Given the description of an element on the screen output the (x, y) to click on. 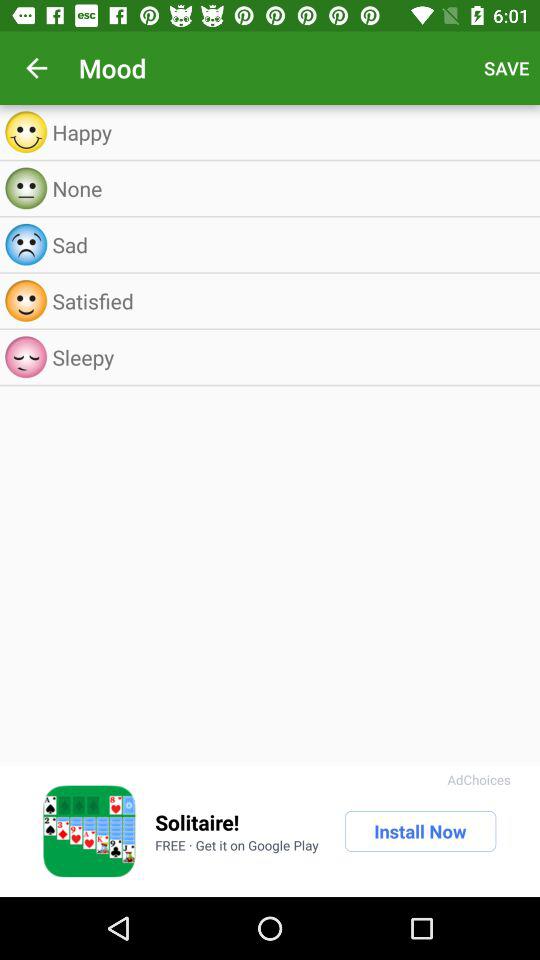
tap the adchoices icon (478, 779)
